Given the description of an element on the screen output the (x, y) to click on. 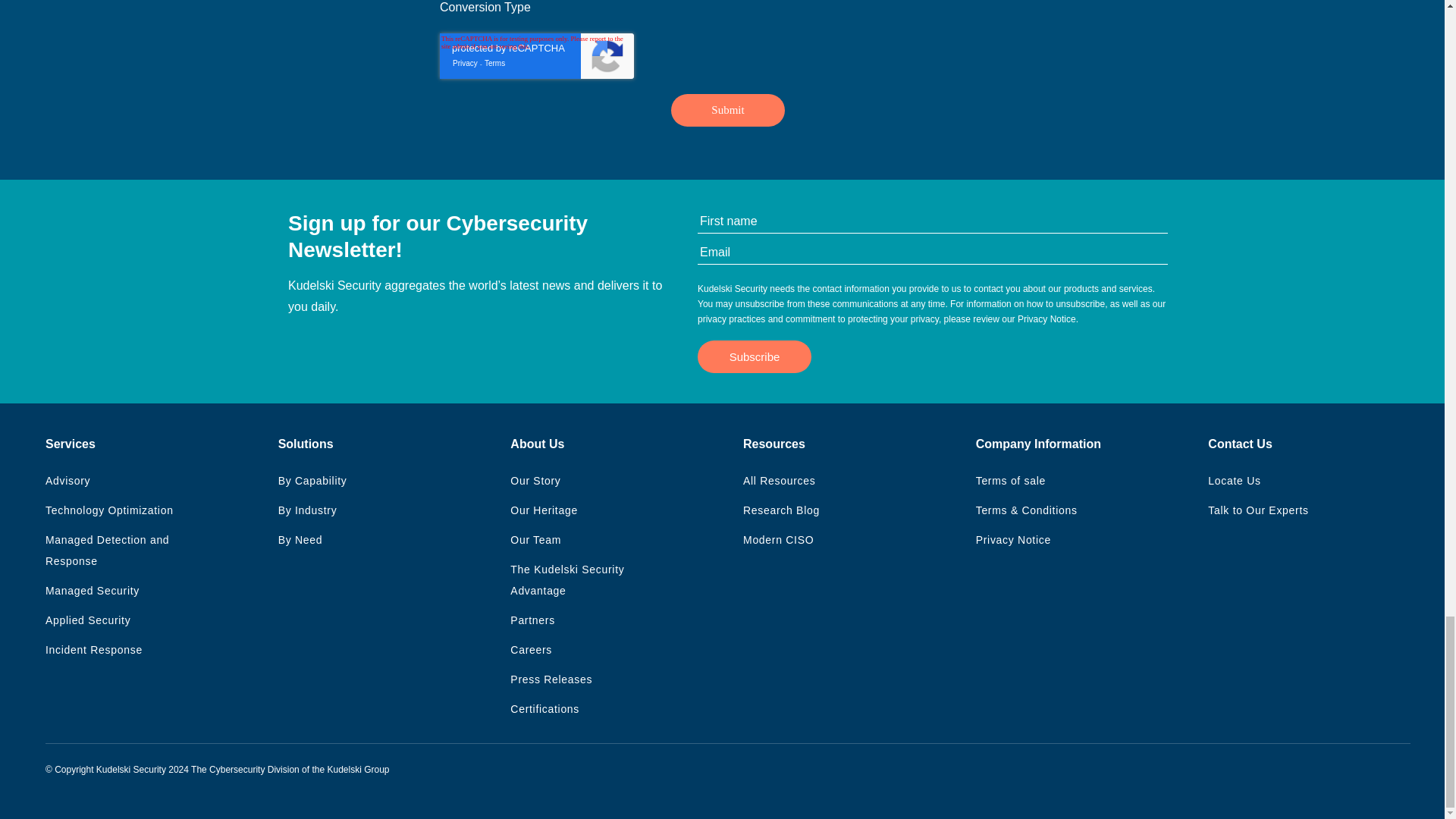
Subscribe (753, 356)
Submit (727, 110)
reCAPTCHA (536, 55)
